Given the description of an element on the screen output the (x, y) to click on. 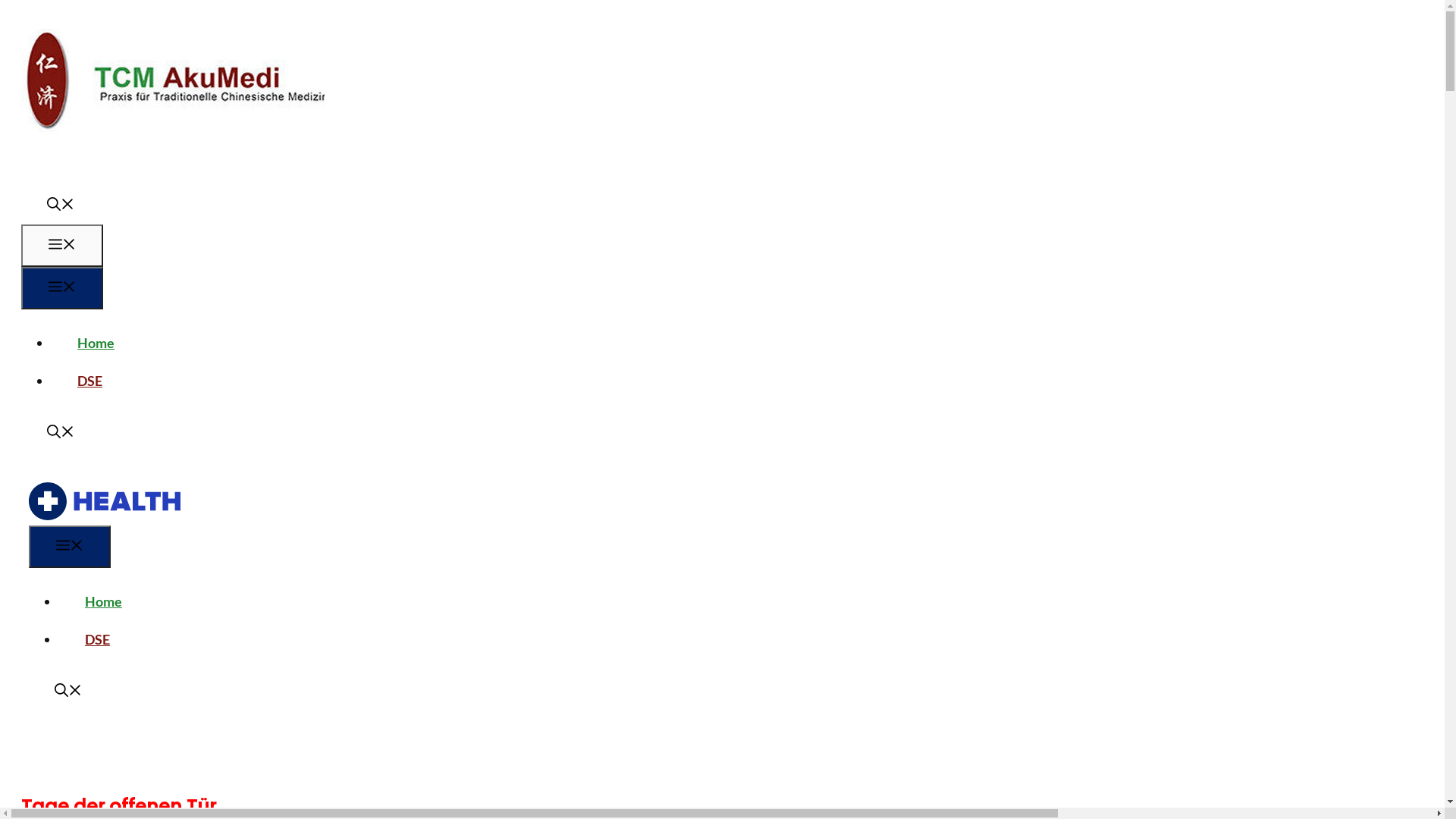
DSE Element type: text (89, 379)
DSE Element type: text (97, 638)
Springe zum Inhalt Element type: text (5, 5)
Home Element type: text (103, 601)
Home Element type: text (95, 341)
Menu Element type: text (69, 546)
TCM AkuMedi Element type: hover (104, 514)
